Given the description of an element on the screen output the (x, y) to click on. 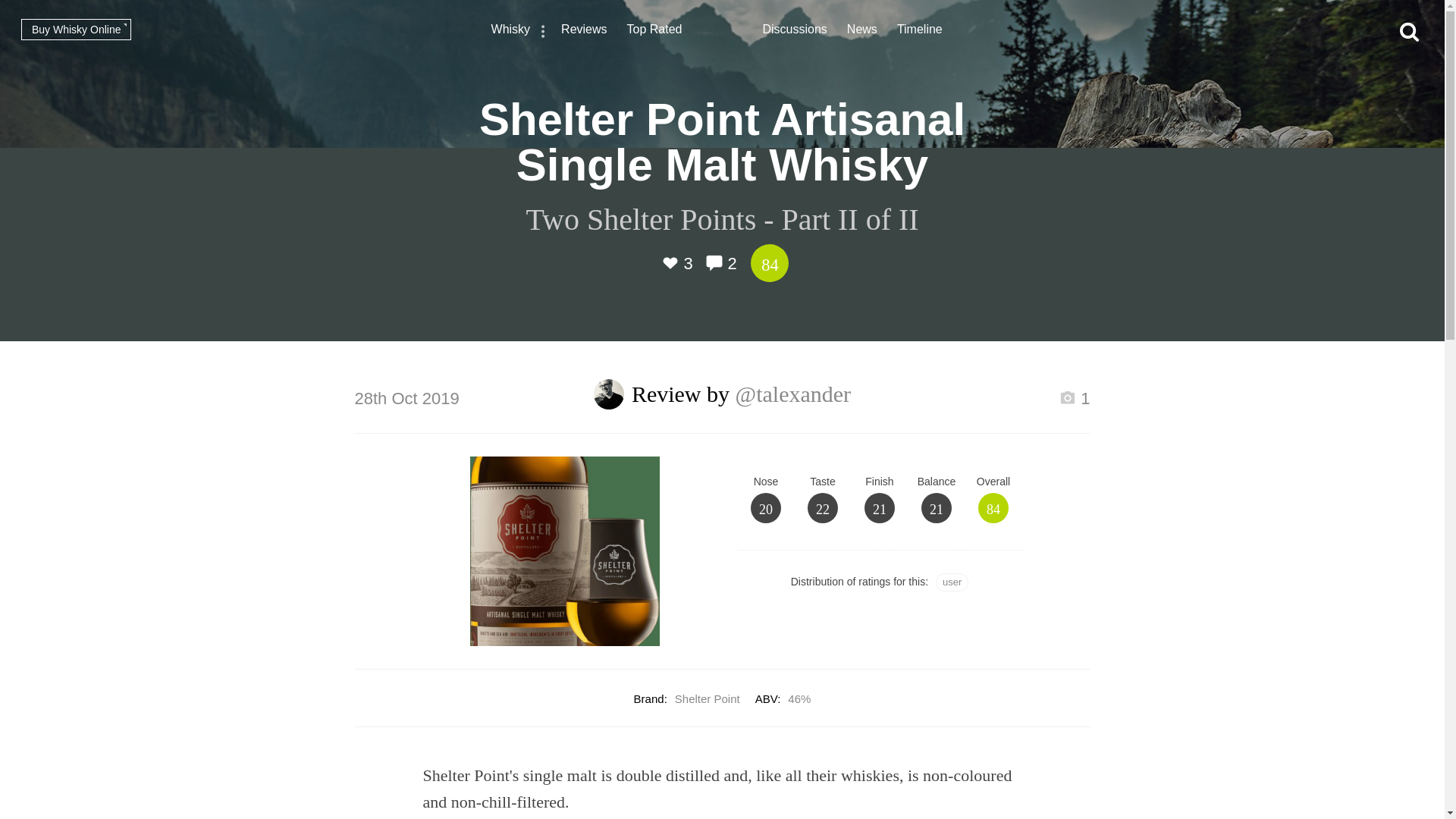
Recent actvity timeline (919, 31)
Discussions (794, 31)
Latest whisky news (862, 31)
Search this site (1408, 31)
Whisky Connosr (721, 30)
Reviews (583, 31)
Whisky discussions (794, 31)
Timeline (919, 31)
Top Rated (654, 31)
Whisky (511, 31)
